Given the description of an element on the screen output the (x, y) to click on. 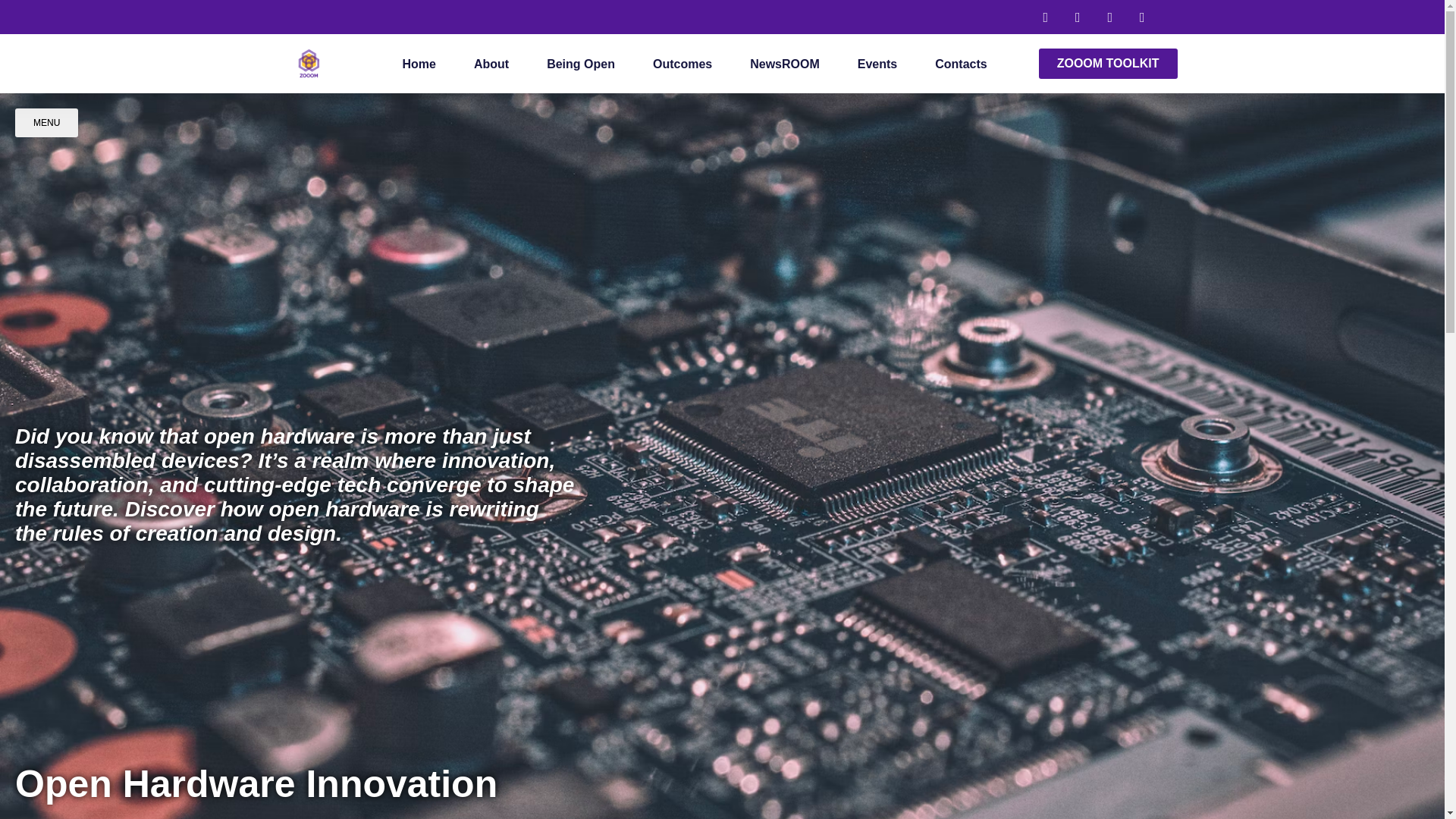
Contacts (960, 63)
Being Open (580, 63)
Events (876, 63)
About (491, 63)
Home (418, 63)
NewsROOM (784, 63)
Outcomes (681, 63)
